Given the description of an element on the screen output the (x, y) to click on. 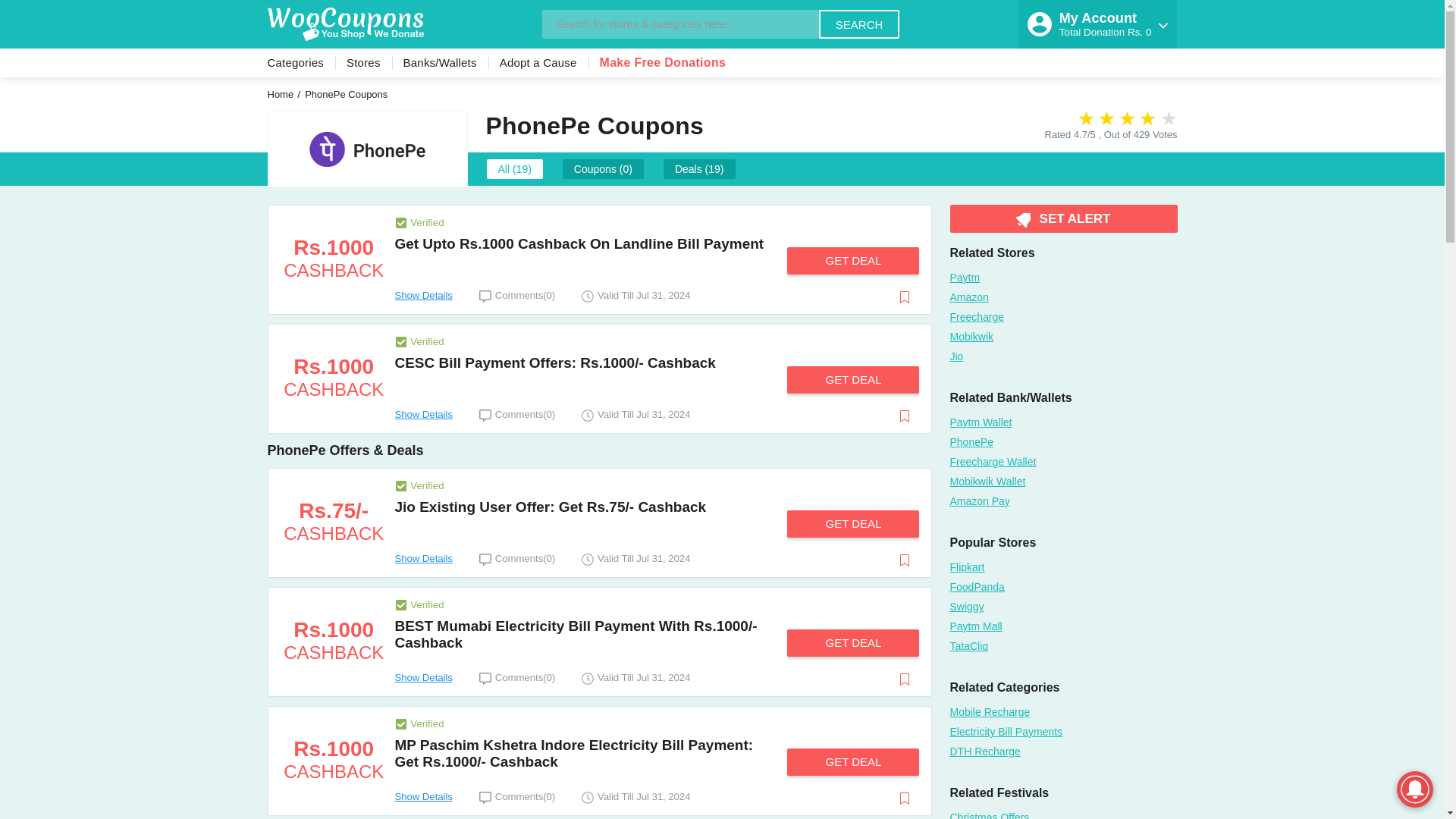
Register (1097, 12)
SEARCH (858, 23)
